Given the description of an element on the screen output the (x, y) to click on. 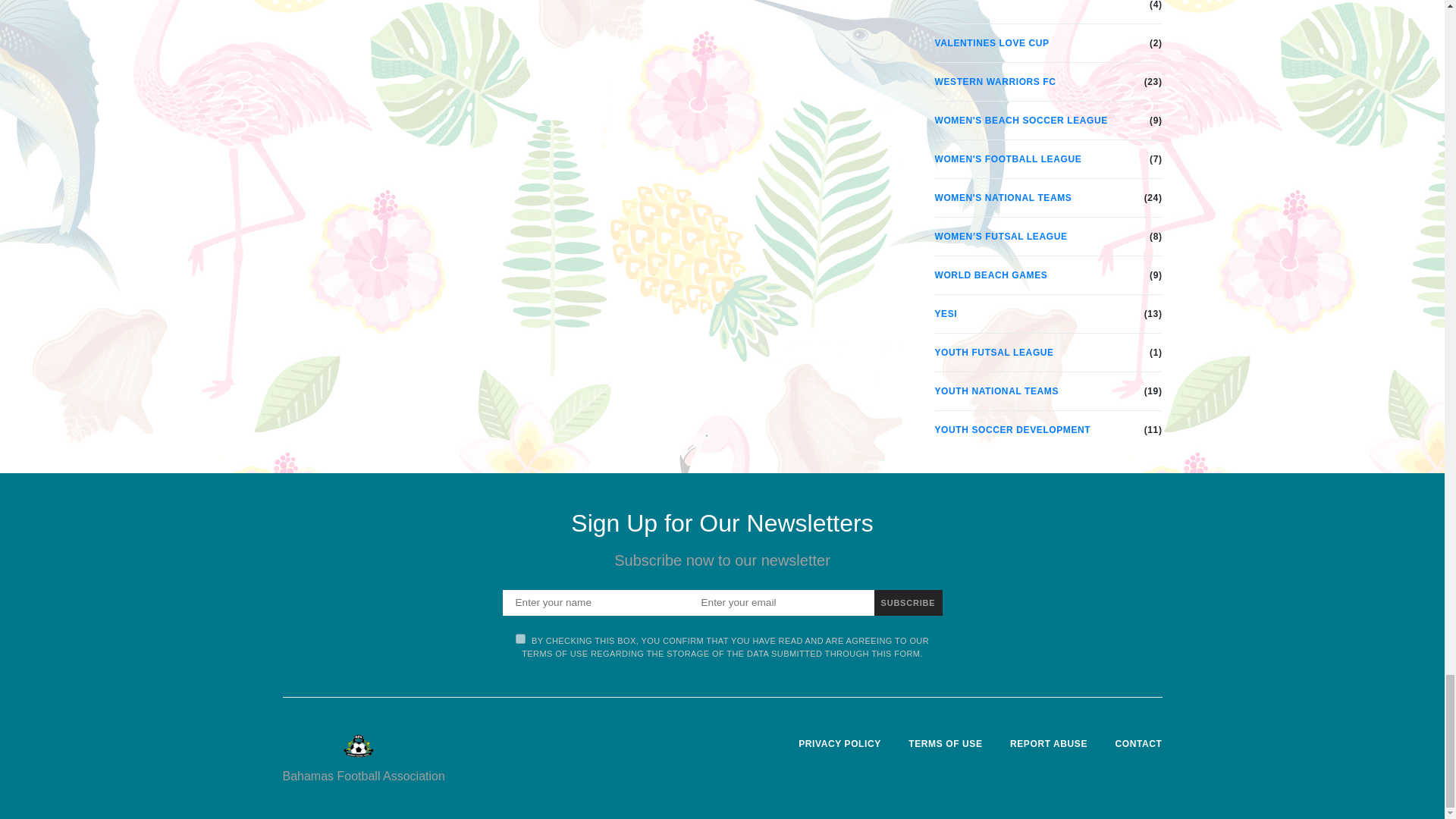
on (520, 638)
